Given the description of an element on the screen output the (x, y) to click on. 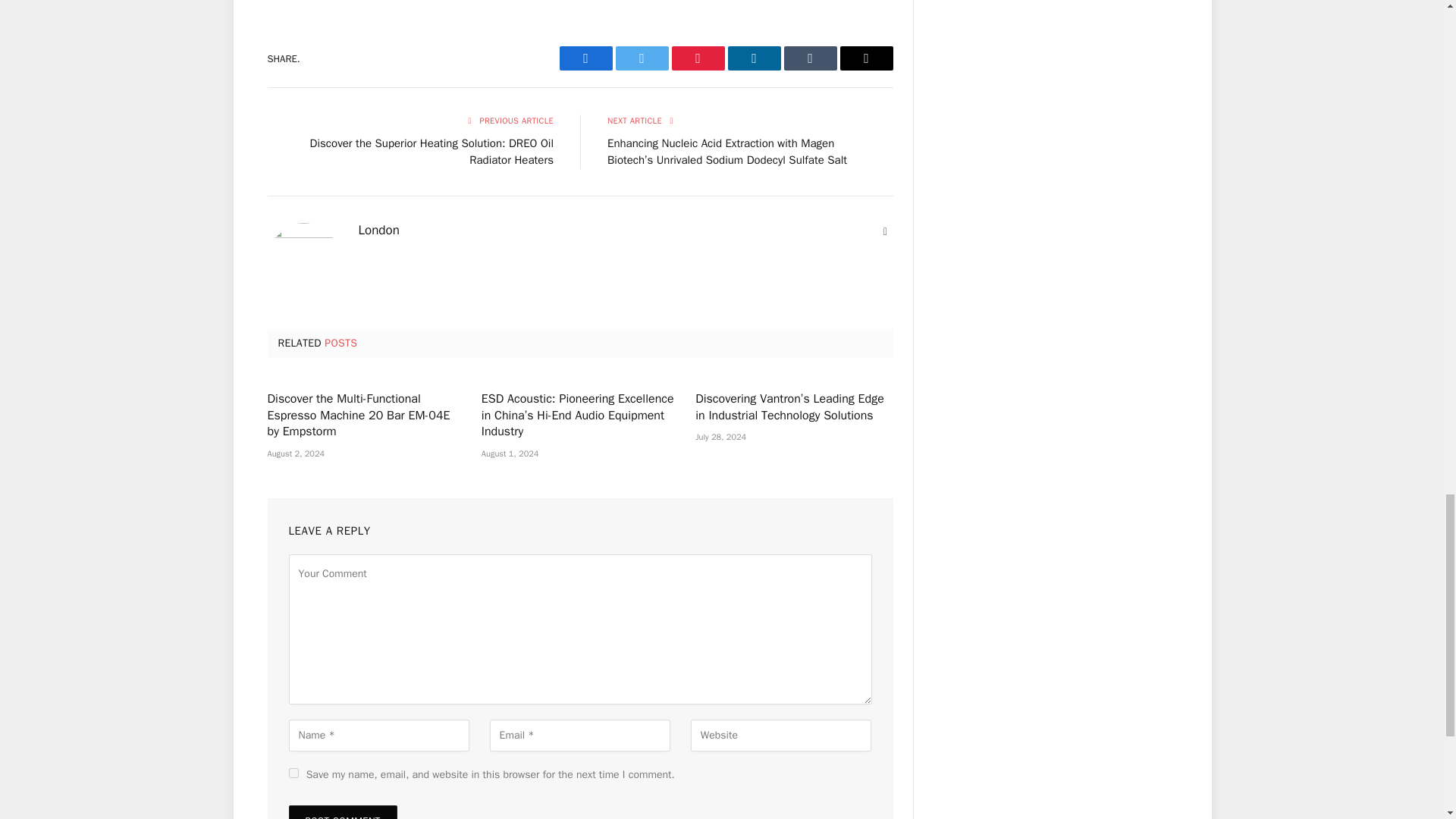
Post Comment (342, 812)
yes (293, 773)
